Given the description of an element on the screen output the (x, y) to click on. 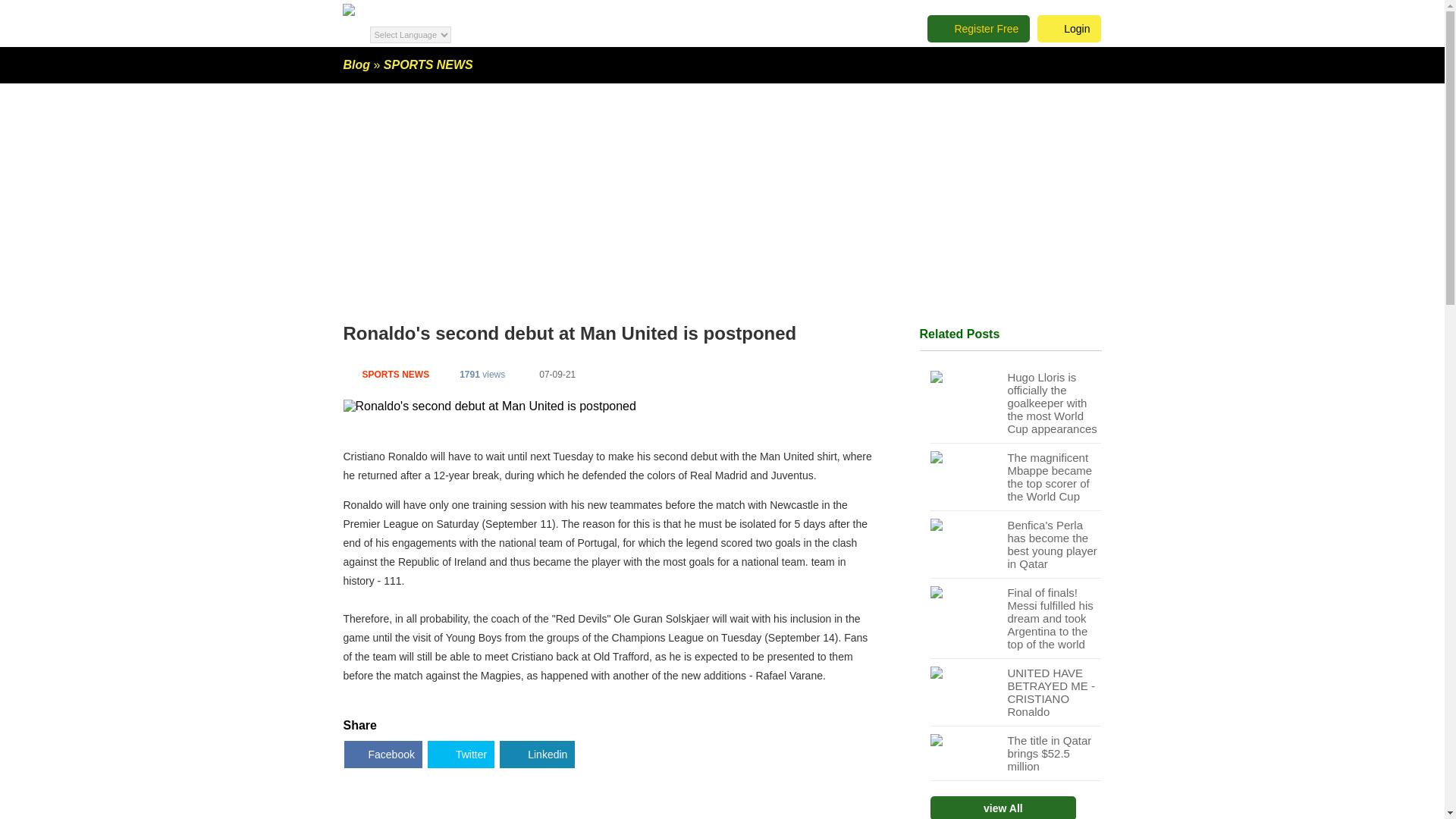
SPORTS NEWS (428, 64)
SPORTS NEWS (395, 374)
Login (1068, 28)
view All (1002, 807)
SPORTS NEWS (428, 64)
Share on Facebook (382, 754)
Linkedin (537, 754)
Scholarship Tips (355, 64)
SPORTS NEWS Tips (395, 374)
Share on Twitter  (460, 754)
Register Free (978, 28)
Facebook (382, 754)
Share on Linkedin (537, 754)
Ronaldo's second debut at Man United is postponed (488, 406)
Twitter (460, 754)
